Given the description of an element on the screen output the (x, y) to click on. 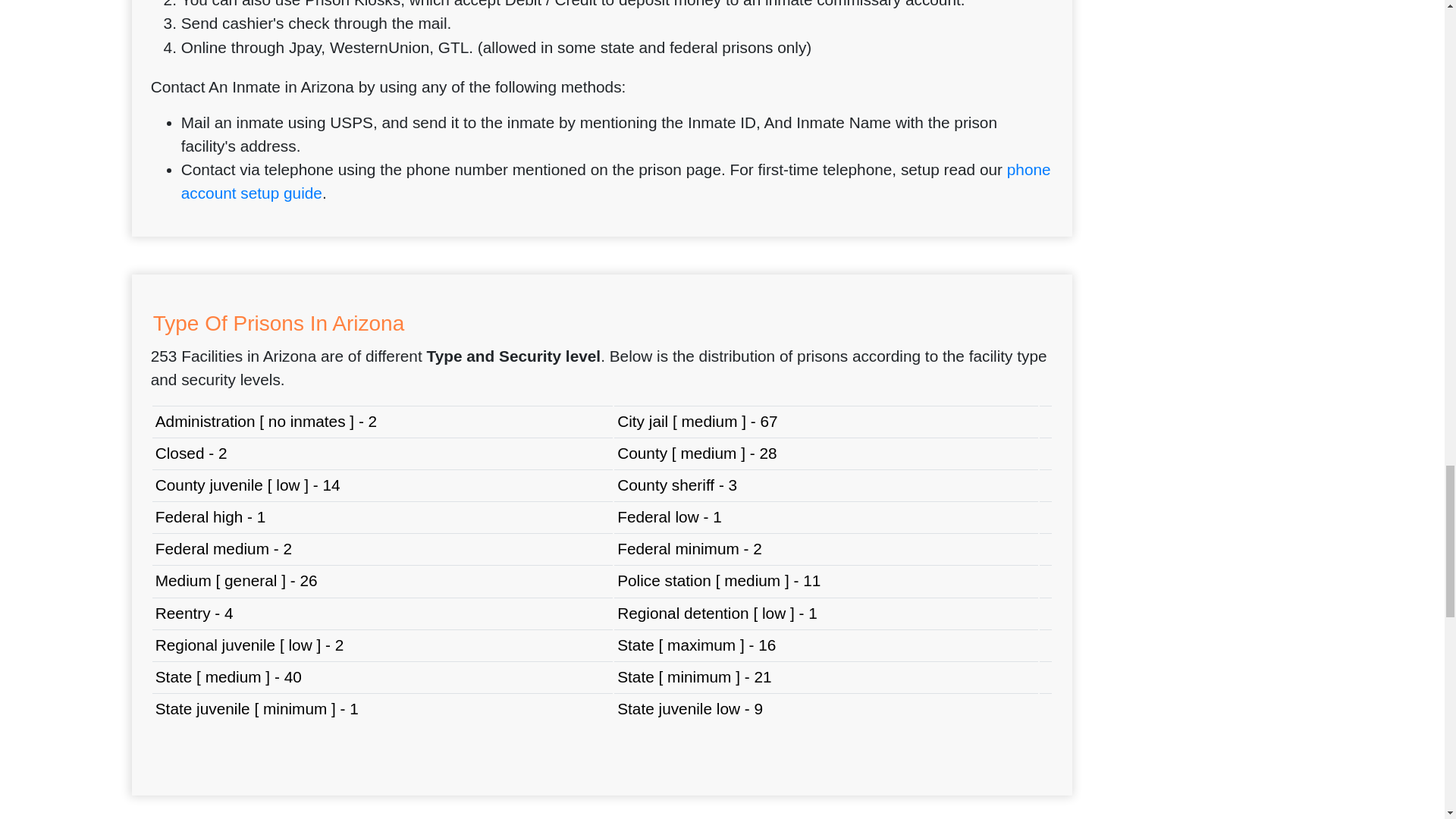
County sheriff - 3 (676, 484)
Federal high - 1 (210, 516)
Closed - 2 (191, 452)
phone account setup guide (615, 180)
Federal medium - 2 (223, 548)
Federal low - 1 (669, 516)
Federal minimum - 2 (689, 548)
